Given the description of an element on the screen output the (x, y) to click on. 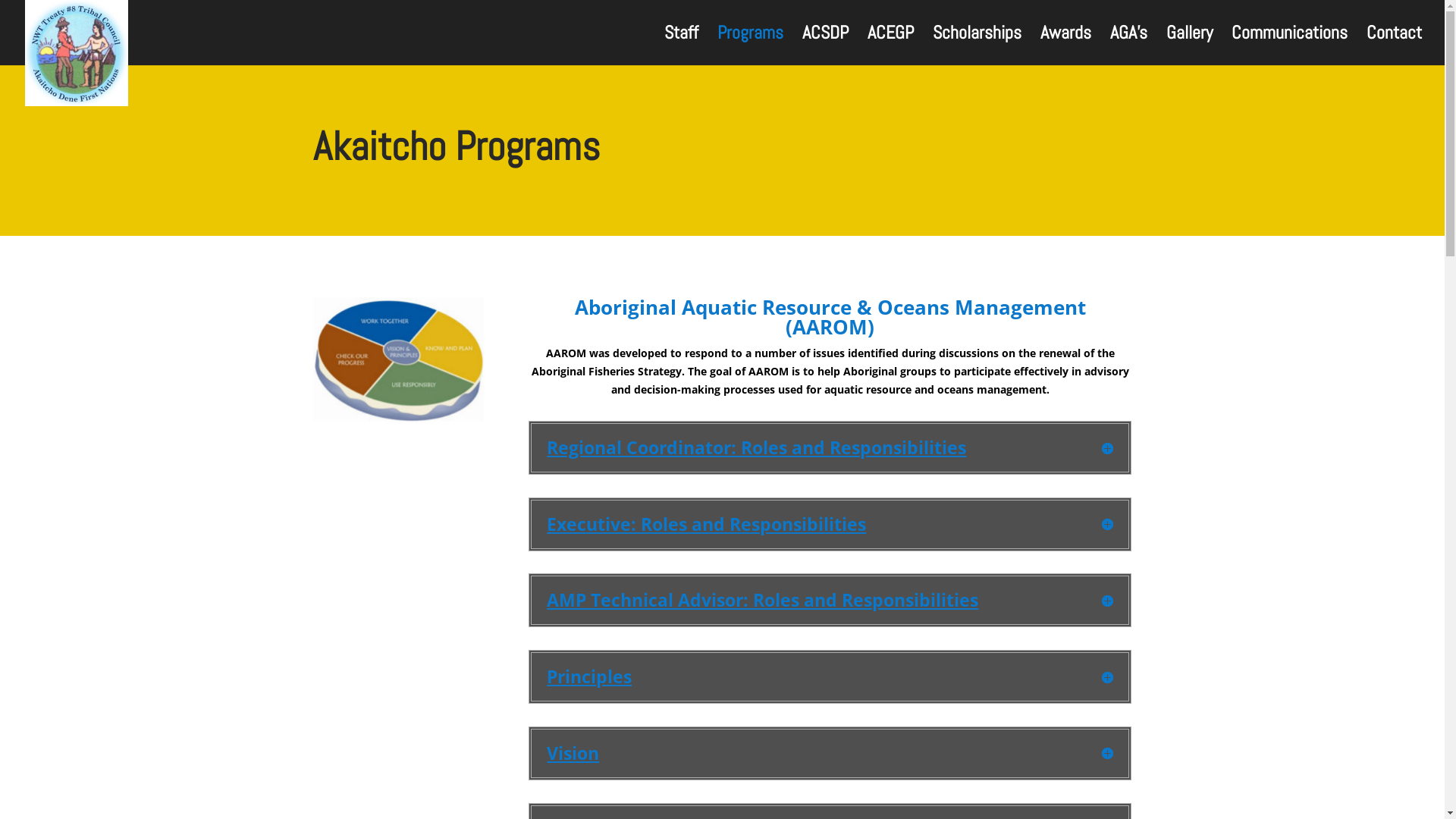
ACSDP Element type: text (825, 46)
Contact Element type: text (1393, 46)
Communications Element type: text (1289, 46)
Programs Element type: text (750, 46)
Staff Element type: text (681, 46)
Awards Element type: text (1065, 46)
ACEGP Element type: text (890, 46)
Scholarships Element type: text (976, 46)
Gallery Element type: text (1189, 46)
